Given the description of an element on the screen output the (x, y) to click on. 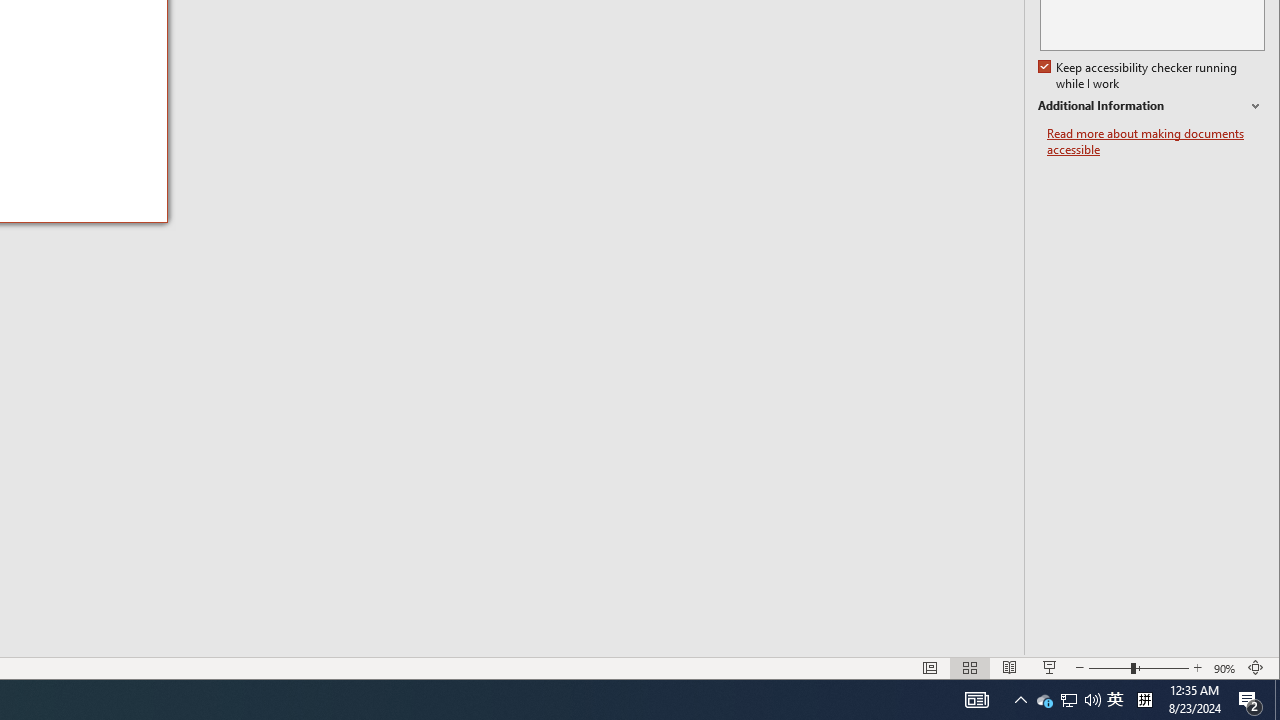
User Promoted Notification Area (1068, 699)
Keep accessibility checker running while I work (1139, 76)
Show desktop (1277, 699)
Zoom 90% (1044, 699)
Tray Input Indicator - Chinese (Simplified, China) (1225, 668)
Notification Chevron (1144, 699)
AutomationID: 4105 (1020, 699)
Additional Information (976, 699)
Action Center, 2 new notifications (1151, 106)
